Given the description of an element on the screen output the (x, y) to click on. 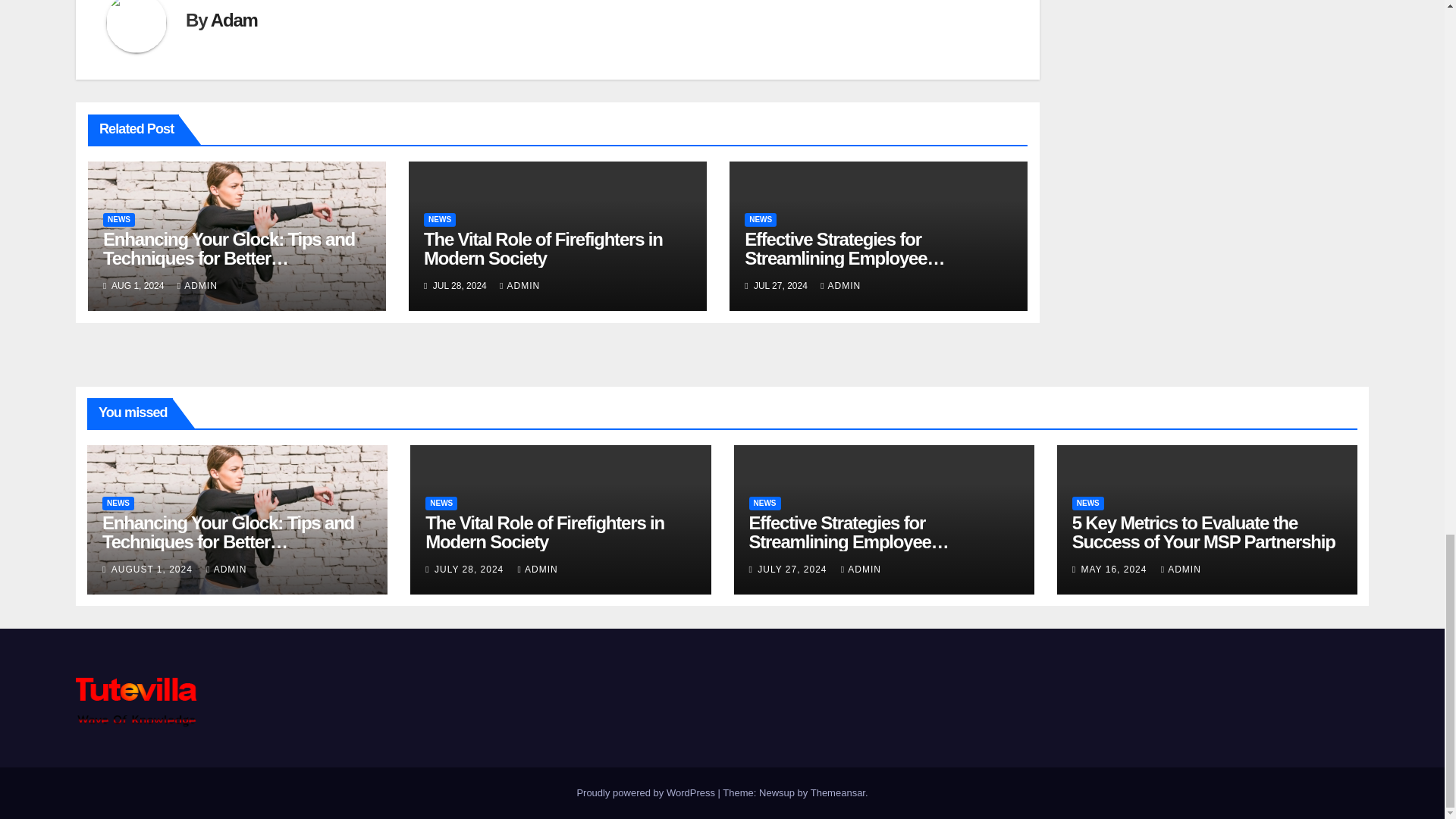
NEWS (119, 219)
NEWS (439, 219)
ADMIN (196, 285)
The Vital Role of Firefighters in Modern Society (542, 248)
ADMIN (519, 285)
Adam (234, 19)
